Given the description of an element on the screen output the (x, y) to click on. 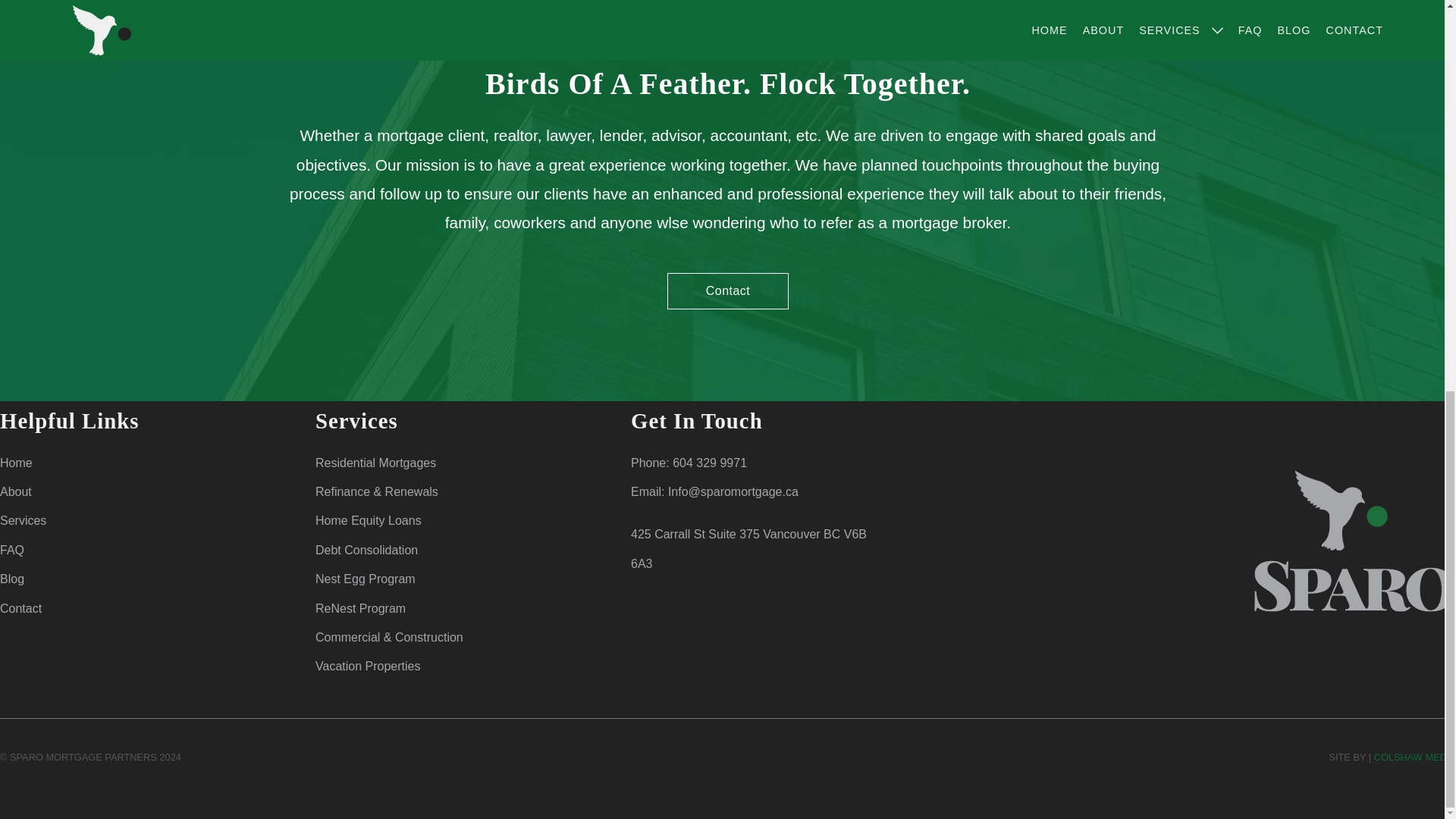
Nest Egg Program (364, 578)
Residential Mortgages (375, 462)
Home Equity Loans (368, 520)
About (16, 491)
Services (23, 520)
FAQ (12, 549)
604 329 9971 (709, 462)
Contact (727, 290)
Debt Consolidation (366, 549)
425 Carrall St Suite 375 Vancouver BC V6B 6A3 (748, 548)
Vacation Properties (367, 666)
ReNest Program (360, 607)
Contact (21, 607)
Home (16, 462)
Blog (12, 578)
